Given the description of an element on the screen output the (x, y) to click on. 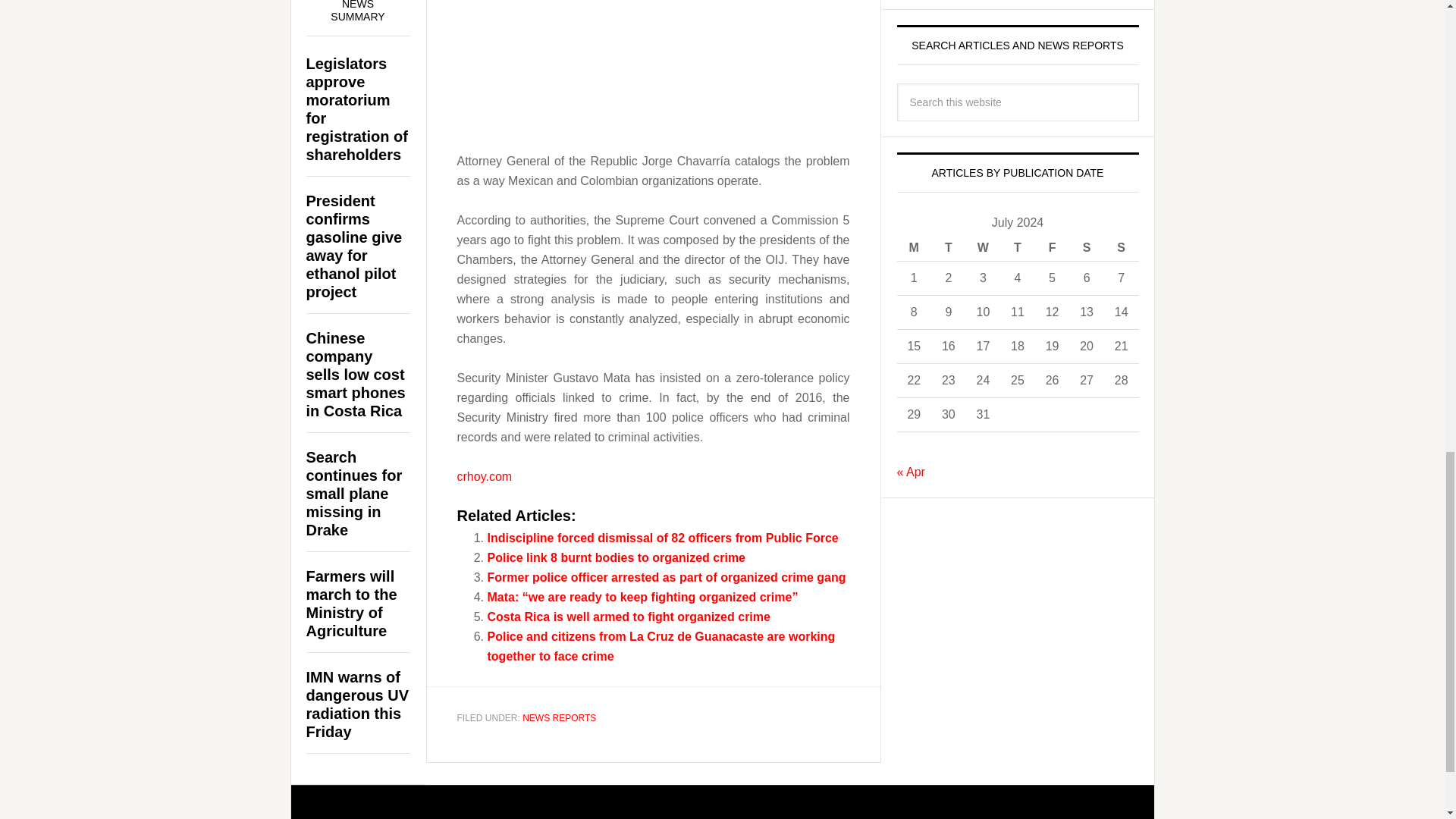
Wednesday (983, 248)
Costa Rica is well armed to fight organized crime (628, 616)
NEWS REPORTS (558, 716)
Sunday (1120, 248)
Thursday (1017, 248)
Saturday (1085, 248)
Tuesday (948, 248)
Search continues for small plane missing in Drake (354, 493)
Monday (913, 248)
crhoy.com (484, 475)
Farmers will march to the Ministry of Agriculture (351, 603)
